Given the description of an element on the screen output the (x, y) to click on. 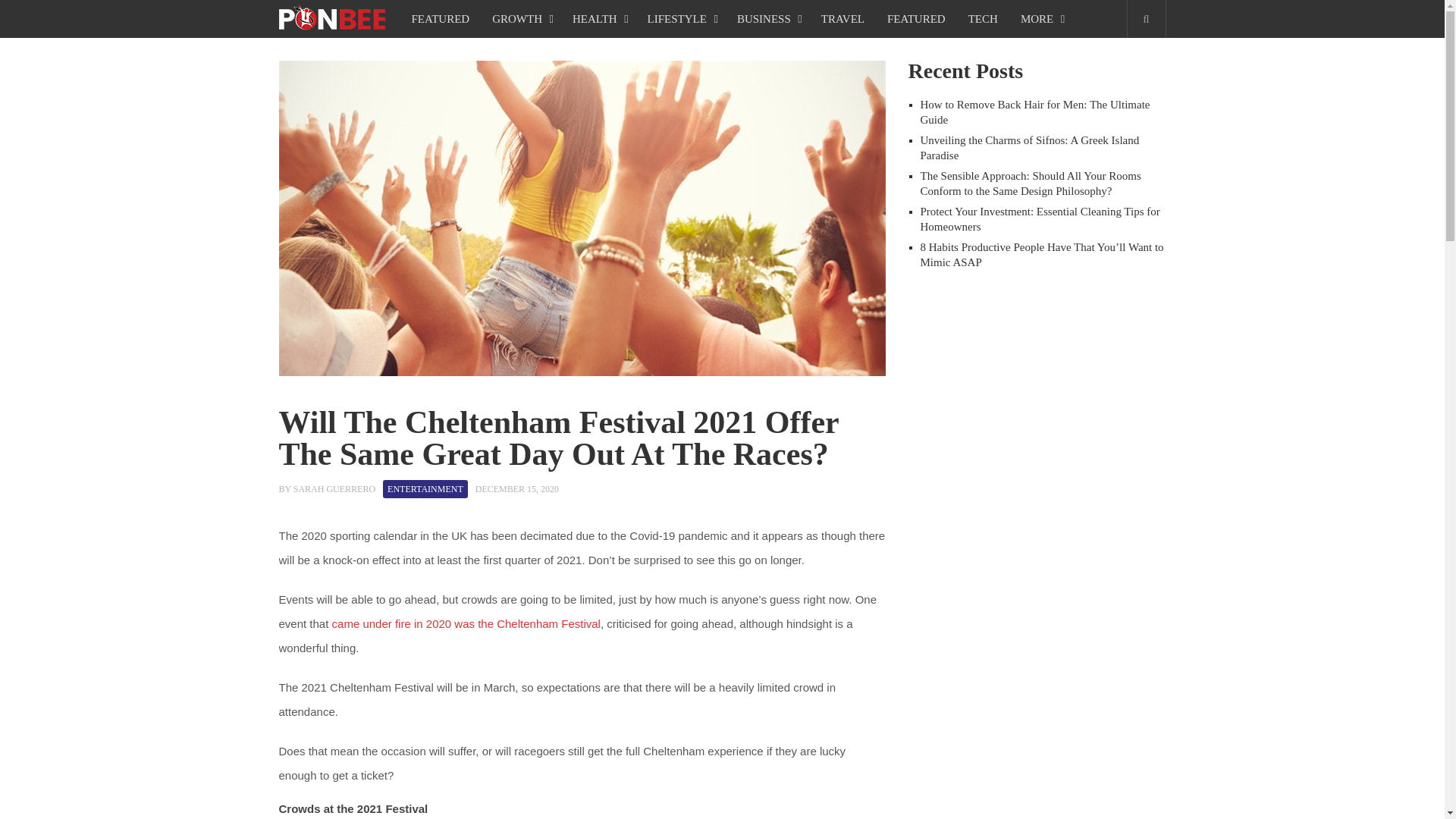
Growth (520, 18)
HEALTH (598, 18)
Lifestyle (680, 18)
MORE (1040, 18)
TECH (982, 18)
FEATURED (916, 18)
FEATURED (440, 18)
LIFESTYLE (680, 18)
BUSINESS (767, 18)
TRAVEL (842, 18)
